Given the description of an element on the screen output the (x, y) to click on. 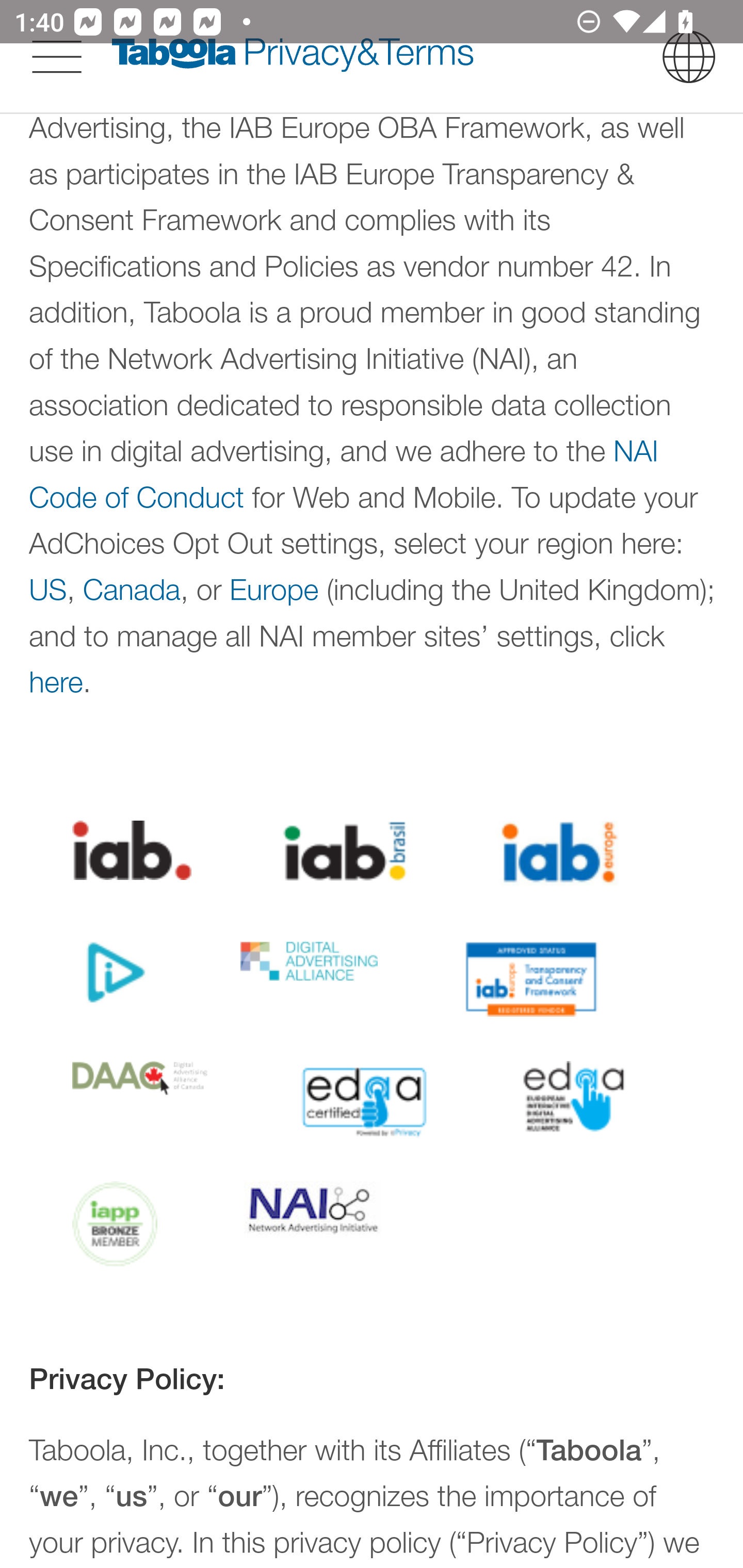
Taboola Privacy & Terms Logo (292, 56)
English (688, 56)
NAI Code of Conduct (343, 473)
US (48, 590)
Canada (131, 590)
Europe (273, 590)
here (56, 682)
iab logo (132, 851)
iab logo (342, 851)
iab europ logo (557, 852)
taboola video icon (113, 973)
DAA logo (308, 960)
iab certificate (530, 978)
DAAC logo (141, 1078)
edaa logo (365, 1100)
edaa logo (574, 1097)
iapp logo (115, 1224)
nai-logo (312, 1210)
